Given the description of an element on the screen output the (x, y) to click on. 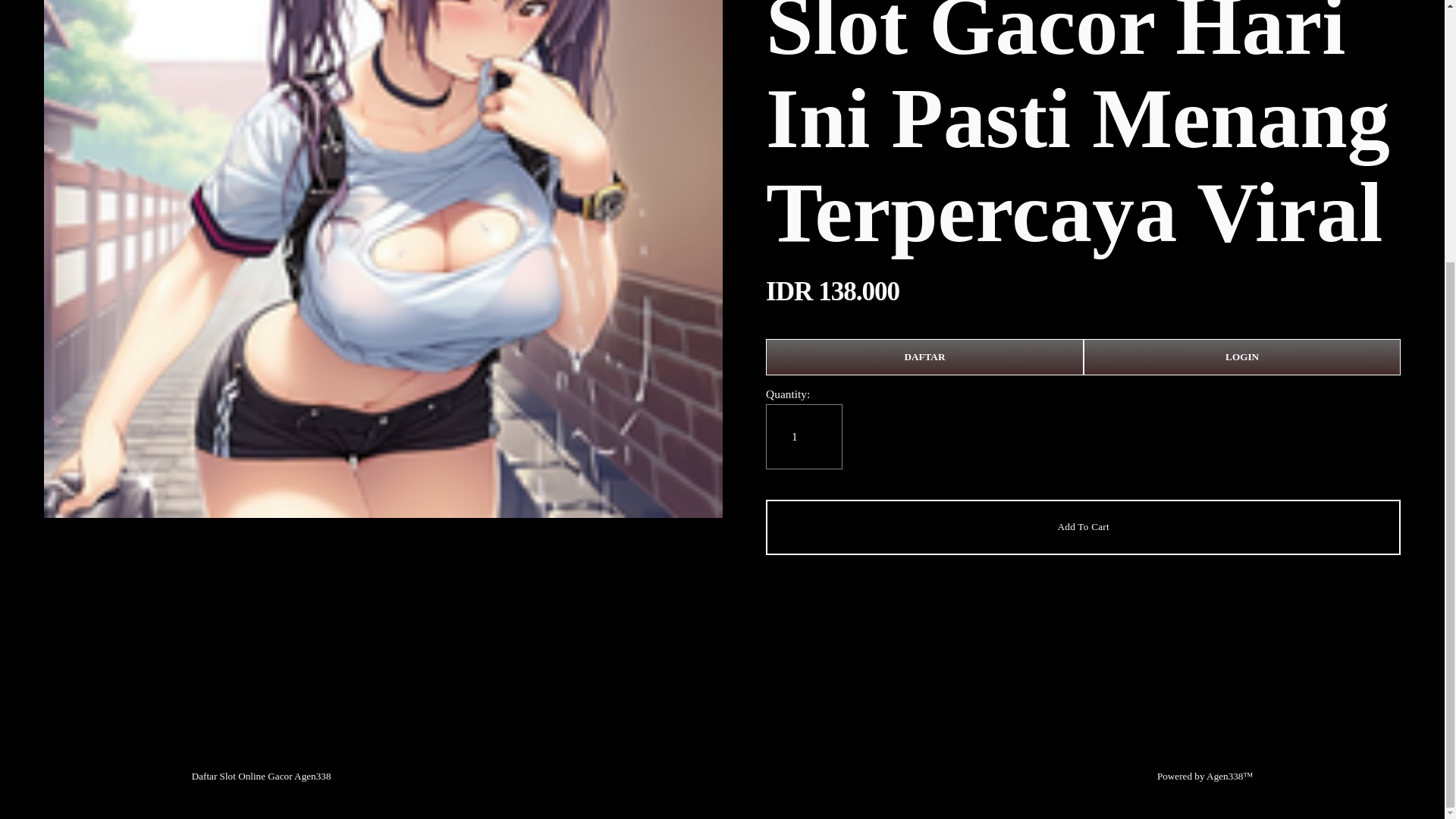
1 (804, 436)
DAFTAR (924, 357)
LOGIN (1241, 357)
